Given the description of an element on the screen output the (x, y) to click on. 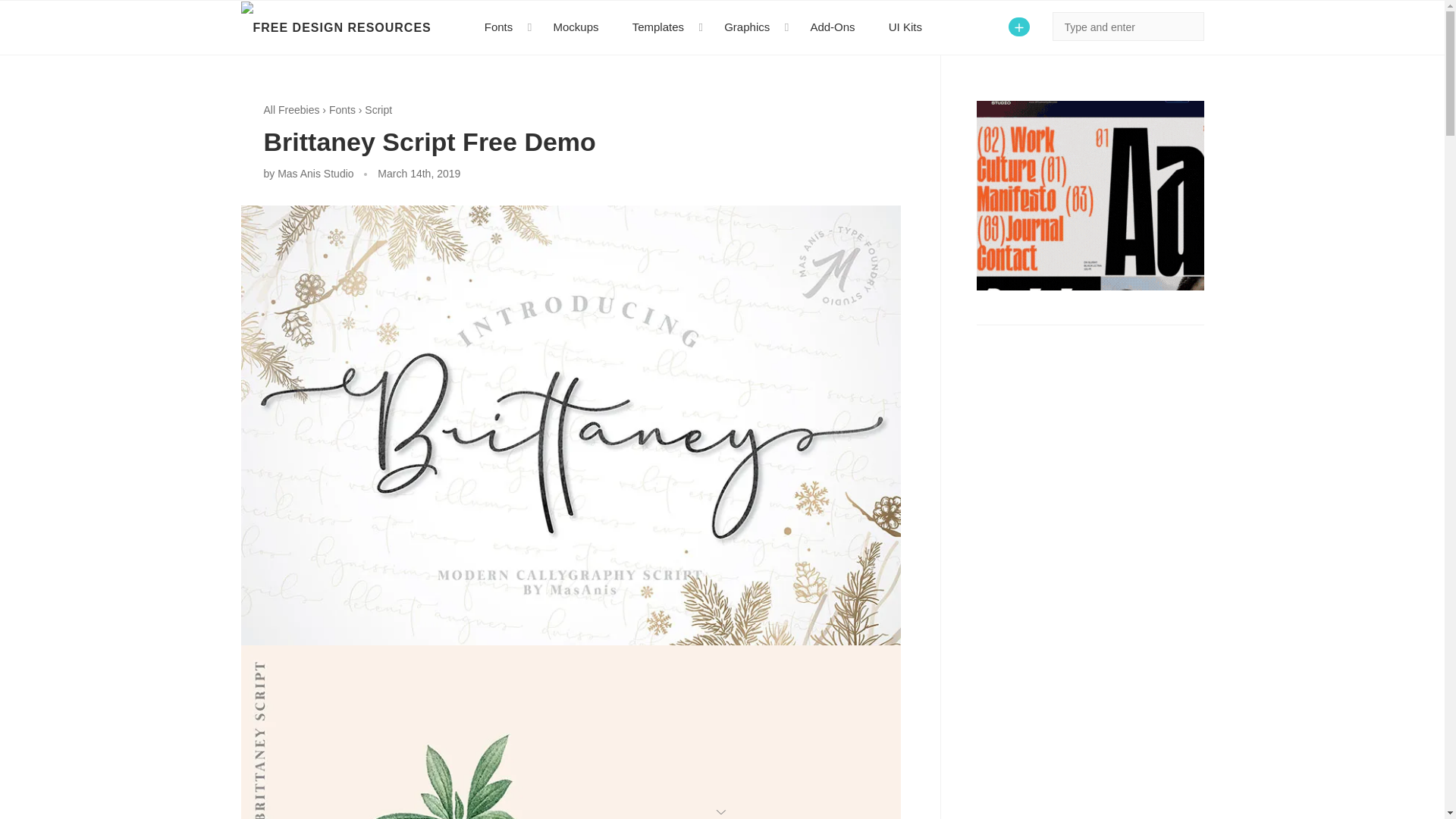
Script (378, 110)
Templates (660, 27)
All Freebies (291, 110)
Graphics (749, 27)
Fonts (342, 110)
Free Design Resources (335, 27)
Ad.Plus Advertising (722, 810)
Submit Freebie (1019, 26)
